Given the description of an element on the screen output the (x, y) to click on. 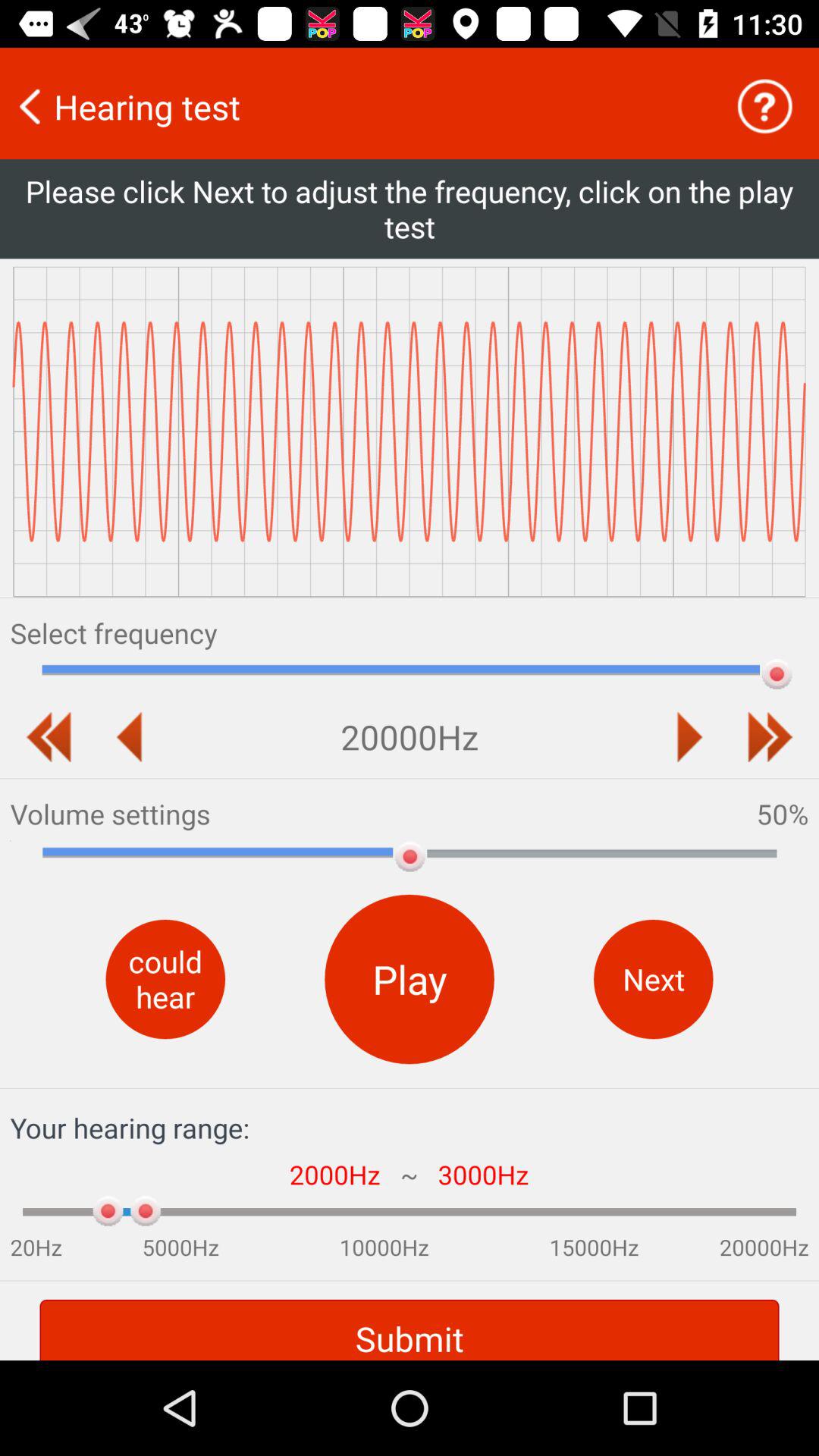
help button (764, 106)
